Given the description of an element on the screen output the (x, y) to click on. 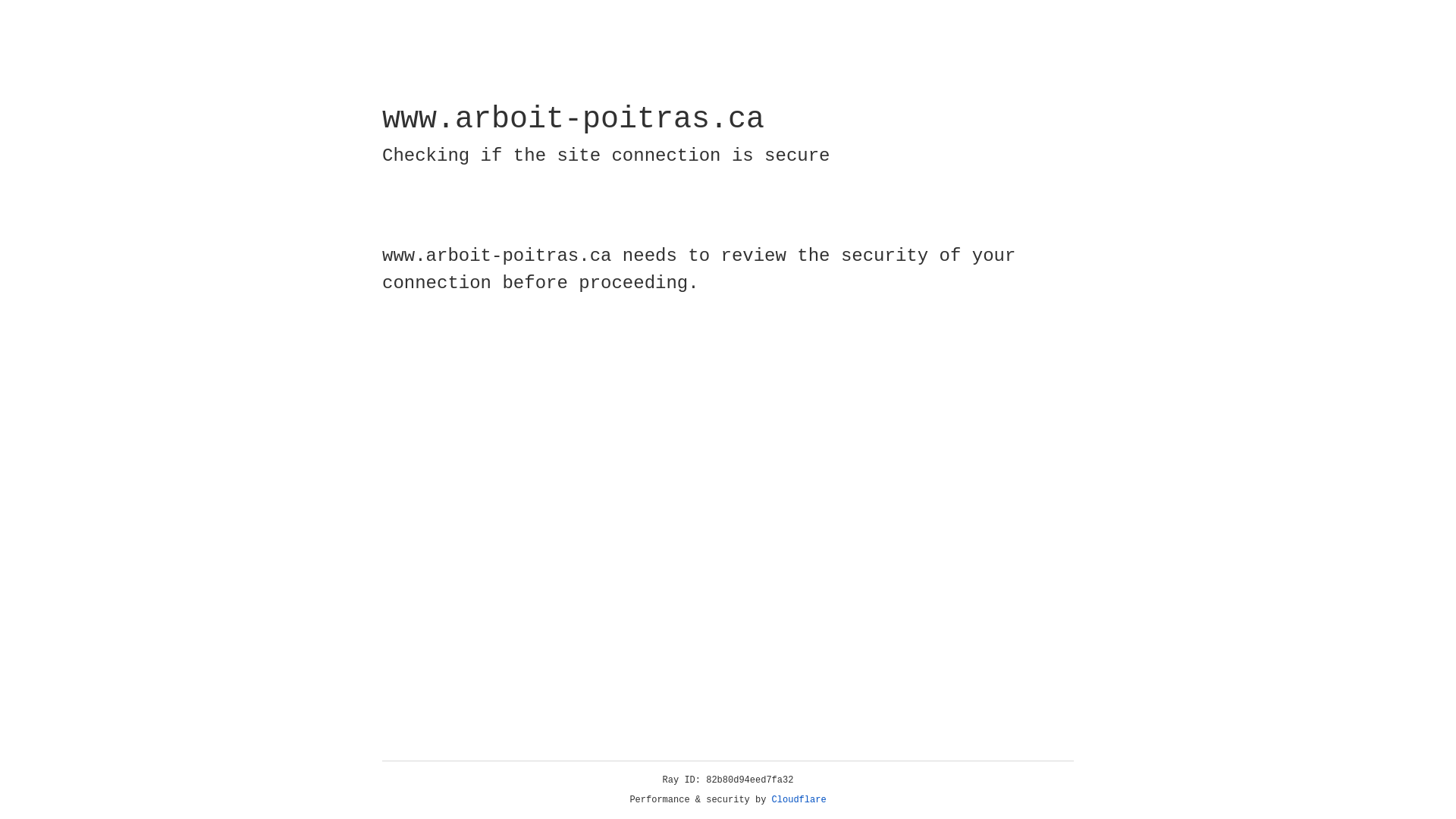
Cloudflare Element type: text (798, 799)
